Given the description of an element on the screen output the (x, y) to click on. 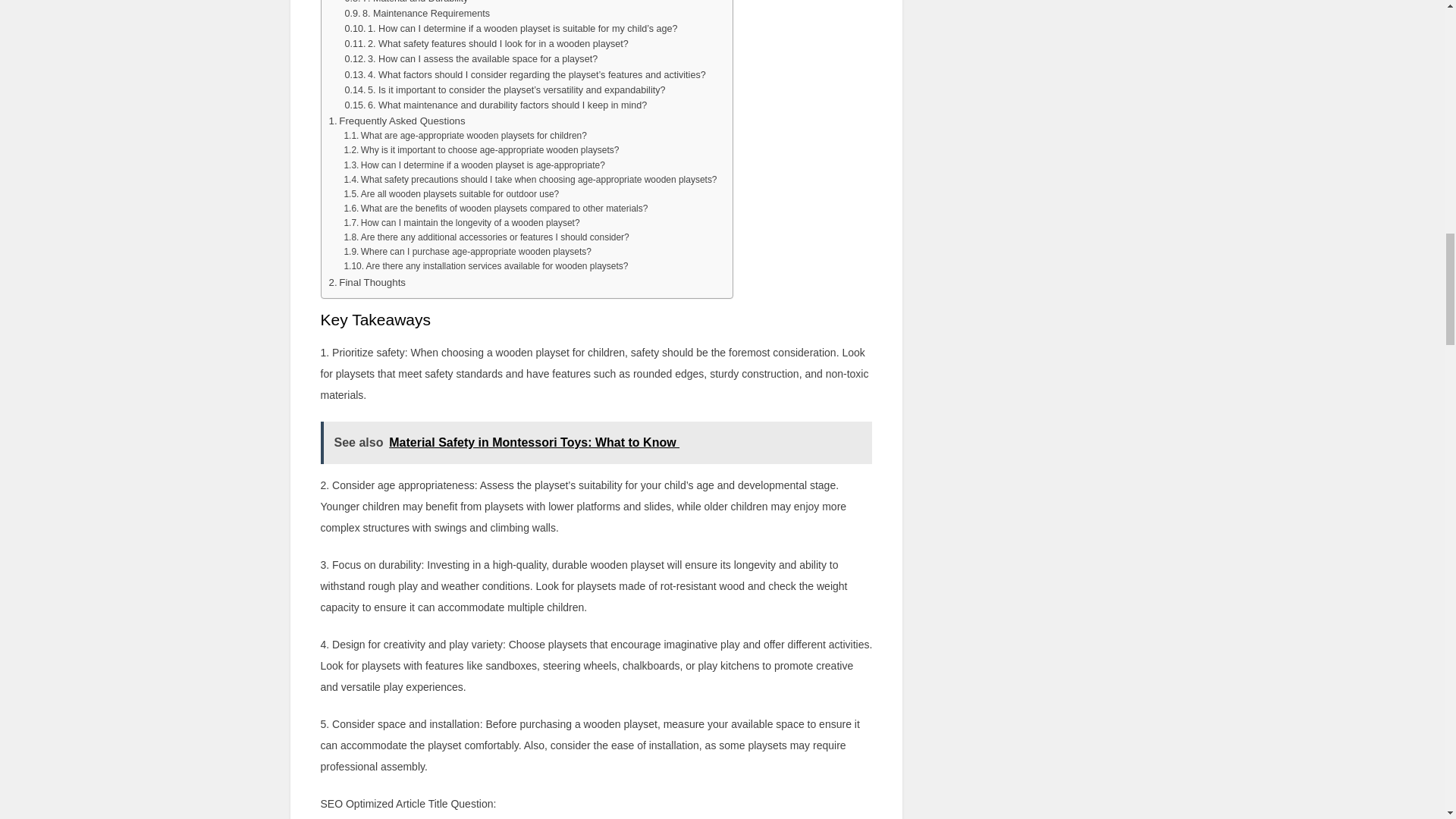
Are all wooden playsets suitable for outdoor use? (451, 194)
How can I determine if a wooden playset is age-appropriate? (473, 164)
What are age-appropriate wooden playsets for children? (464, 135)
7. Material and Durability (405, 2)
Frequently Asked Questions (397, 120)
3. How can I assess the available space for a playset? (469, 58)
8. Maintenance Requirements (416, 13)
